Given the description of an element on the screen output the (x, y) to click on. 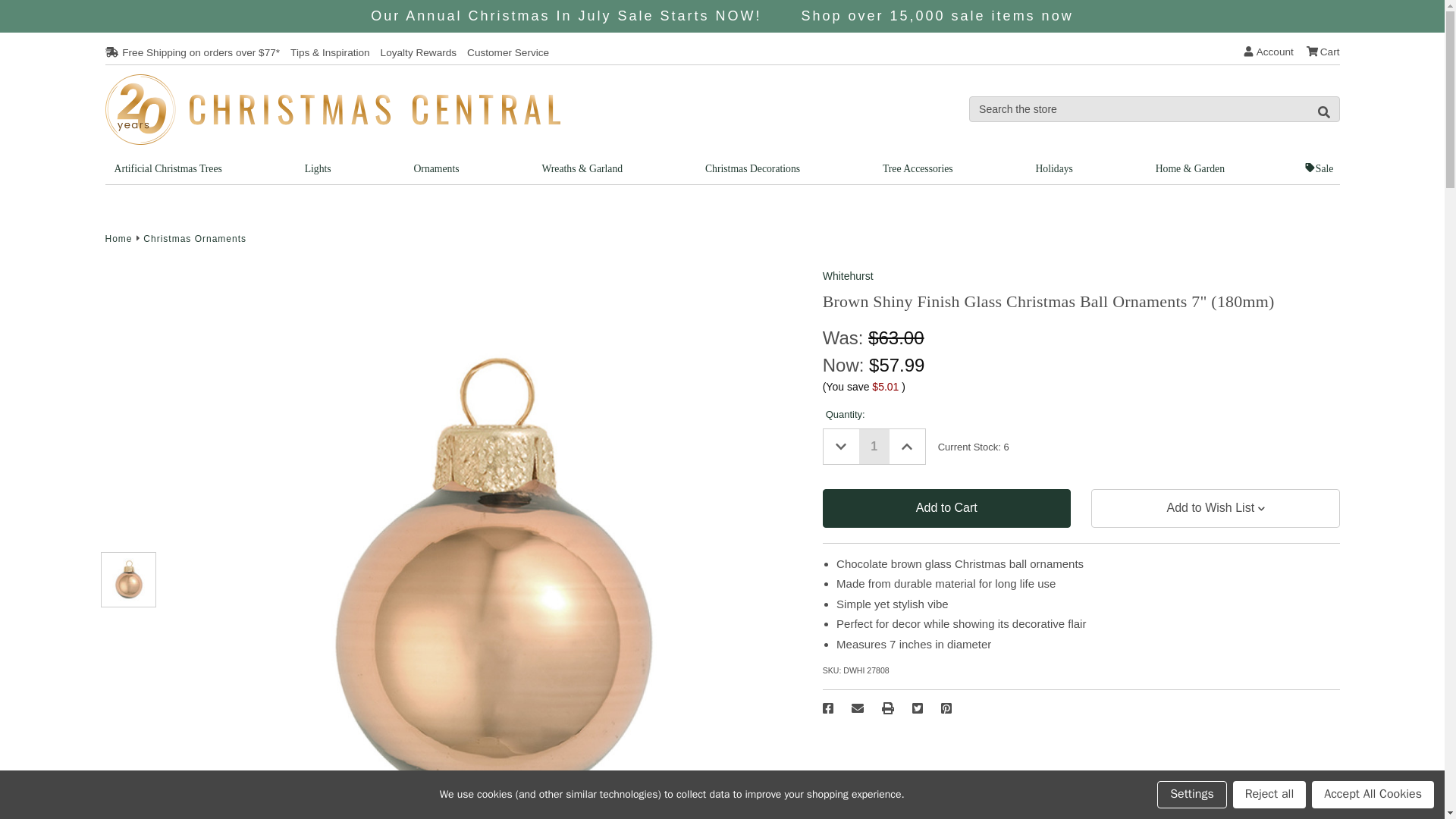
Shop over 15,000 sale items now (936, 15)
Our Annual Christmas In July Sale Starts NOW! (566, 15)
Add to Cart (946, 507)
Account (1267, 52)
Cart (1322, 51)
Loyalty Rewards (418, 52)
Customer Service (507, 52)
Artificial Christmas Trees (167, 168)
